Given the description of an element on the screen output the (x, y) to click on. 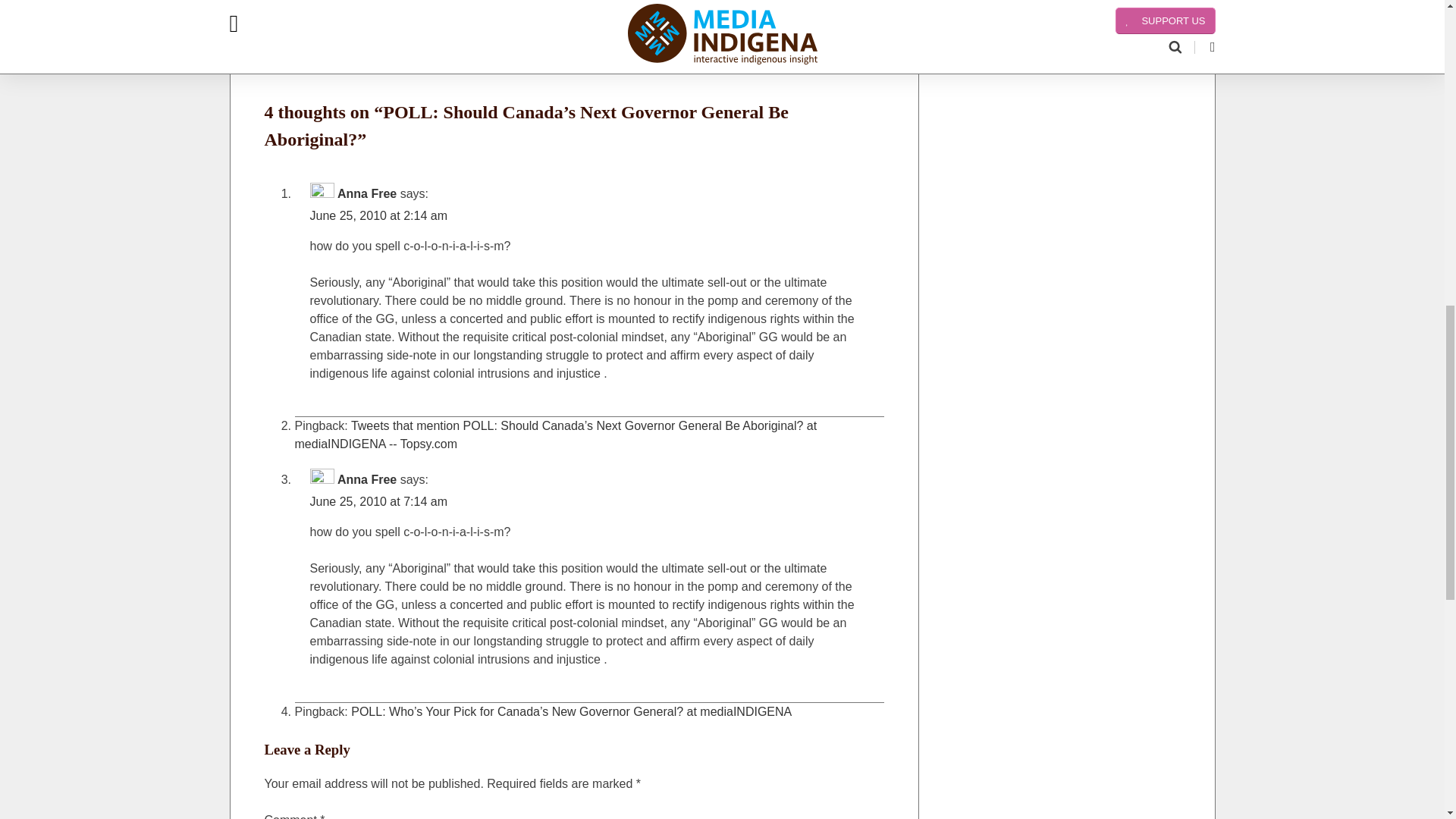
Anna Free (366, 479)
June 25, 2010 at 2:14 am (377, 215)
June 25, 2010 at 7:14 am (377, 501)
Anna Free (366, 193)
